Given the description of an element on the screen output the (x, y) to click on. 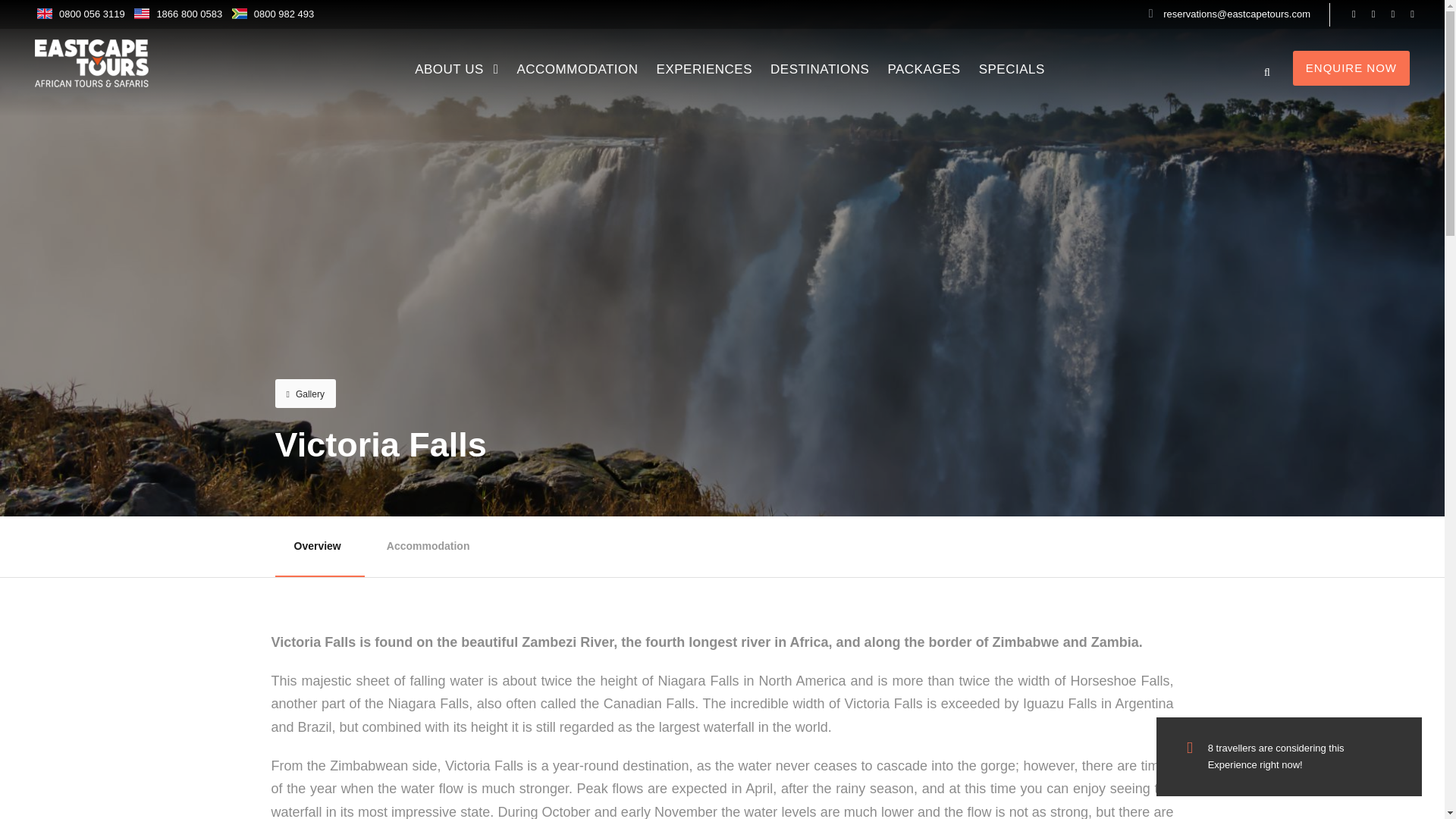
SPECIALS (1011, 72)
Overview (317, 546)
1866 800 0583 (188, 13)
PACKAGES (922, 72)
0800 982 493 (283, 13)
ENQUIRE NOW (1350, 67)
DESTINATIONS (819, 72)
Gallery (304, 393)
Accommodation (428, 546)
0800 056 3119 (92, 13)
ACCOMMODATION (576, 72)
Sign up (1174, 697)
ABOUT US (455, 72)
LiveChat chat widget (1397, 787)
EXPERIENCES (704, 72)
